Given the description of an element on the screen output the (x, y) to click on. 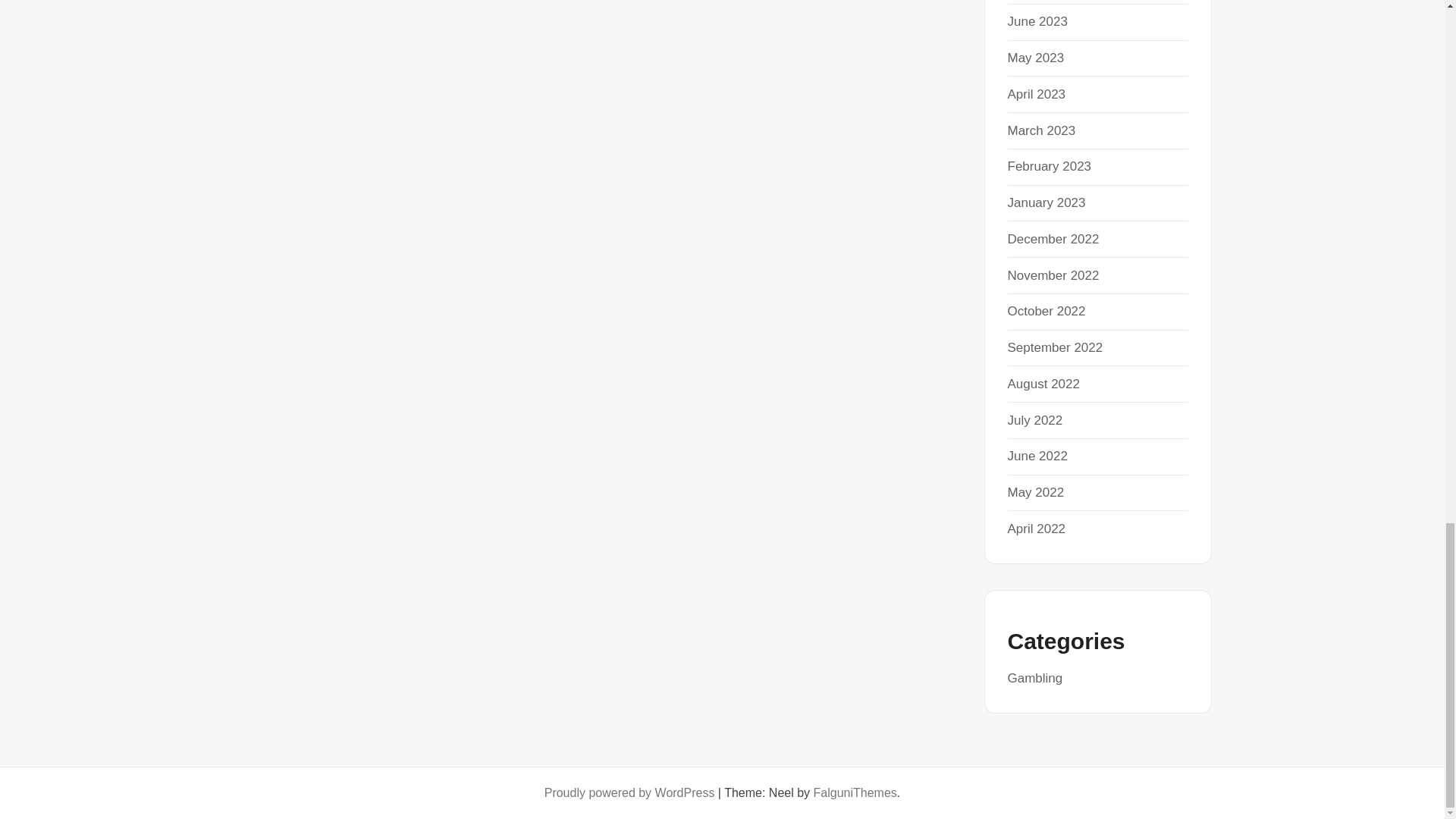
November 2022 (1053, 275)
December 2022 (1053, 238)
May 2023 (1035, 57)
February 2023 (1048, 165)
June 2023 (1037, 21)
March 2023 (1041, 130)
April 2023 (1036, 93)
January 2023 (1045, 202)
